Given the description of an element on the screen output the (x, y) to click on. 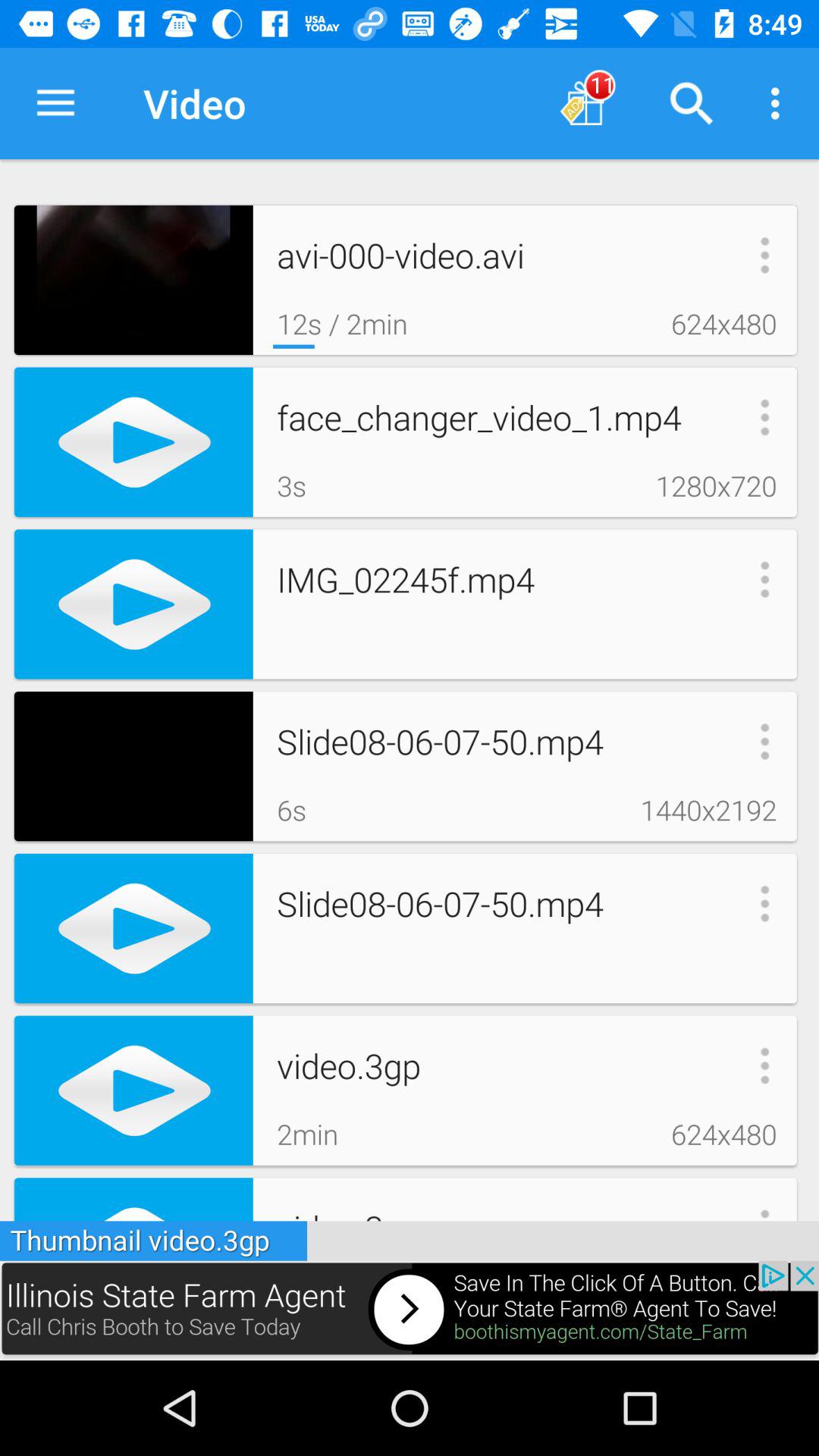
advertisement page (409, 1310)
